Given the description of an element on the screen output the (x, y) to click on. 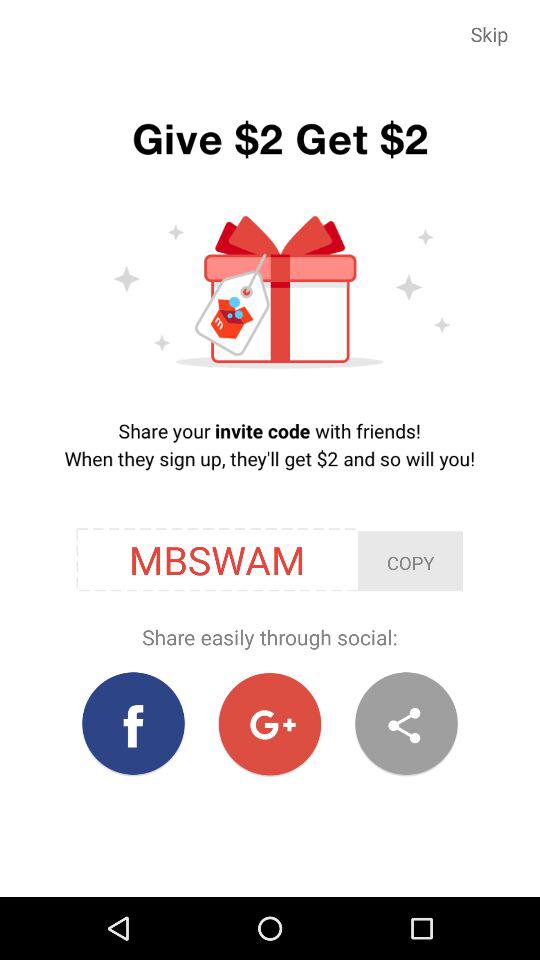
press item at the top right corner (489, 34)
